Given the description of an element on the screen output the (x, y) to click on. 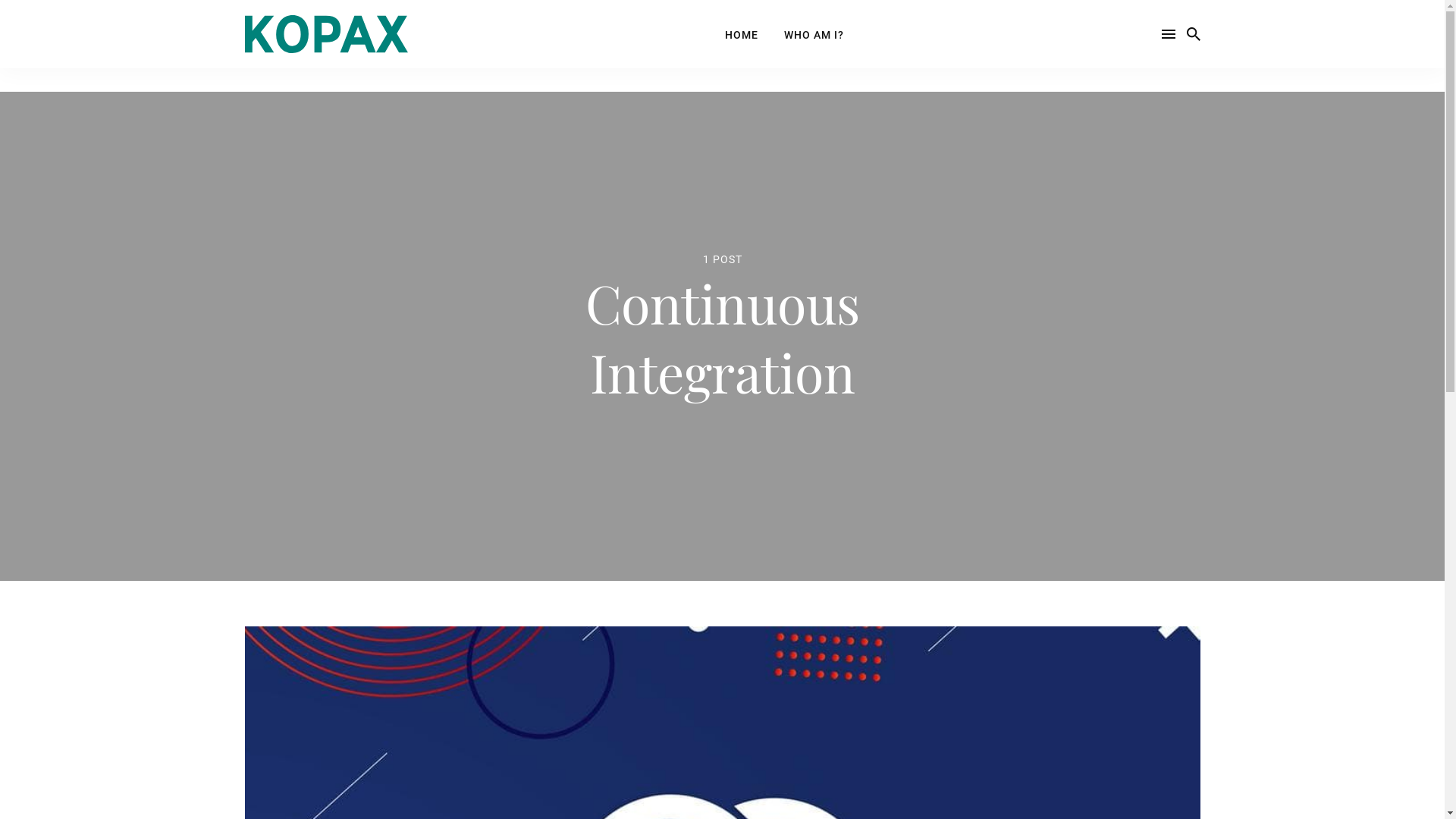
HOME Element type: text (741, 34)
WHO AM I? Element type: text (814, 34)
